Given the description of an element on the screen output the (x, y) to click on. 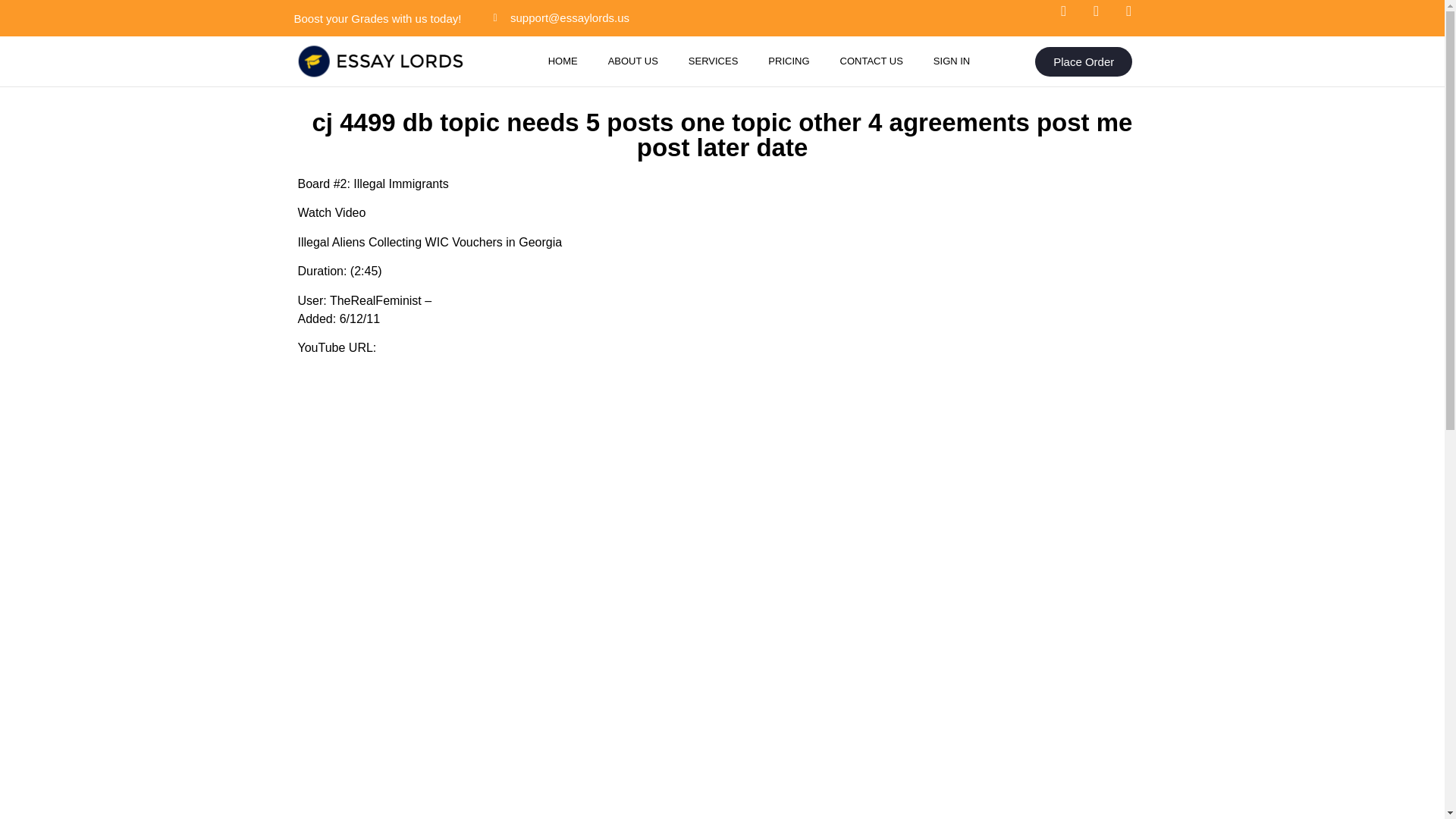
ABOUT US (632, 61)
CONTACT US (871, 61)
Place Order (1083, 61)
SERVICES (713, 61)
HOME (562, 61)
PRICING (788, 61)
SIGN IN (951, 61)
